Given the description of an element on the screen output the (x, y) to click on. 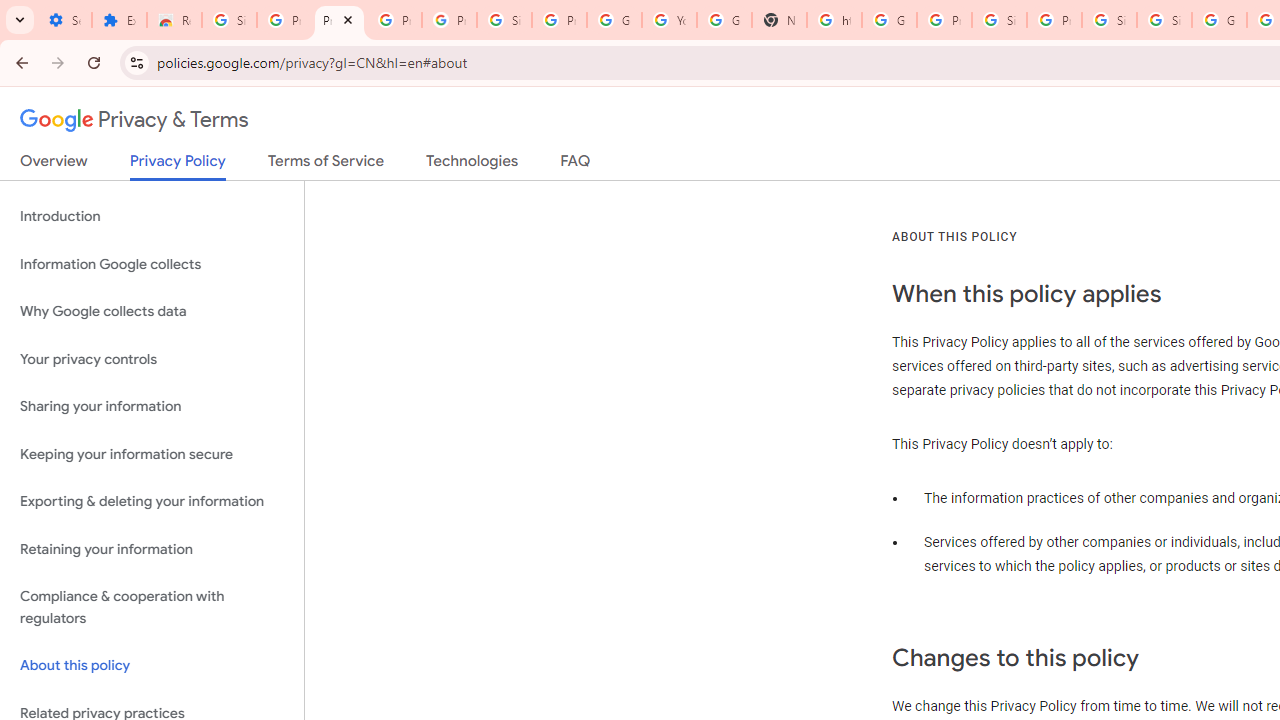
Extensions (119, 20)
Information Google collects (152, 263)
Your privacy controls (152, 358)
Google Account (614, 20)
Compliance & cooperation with regulators (152, 607)
